Given the description of an element on the screen output the (x, y) to click on. 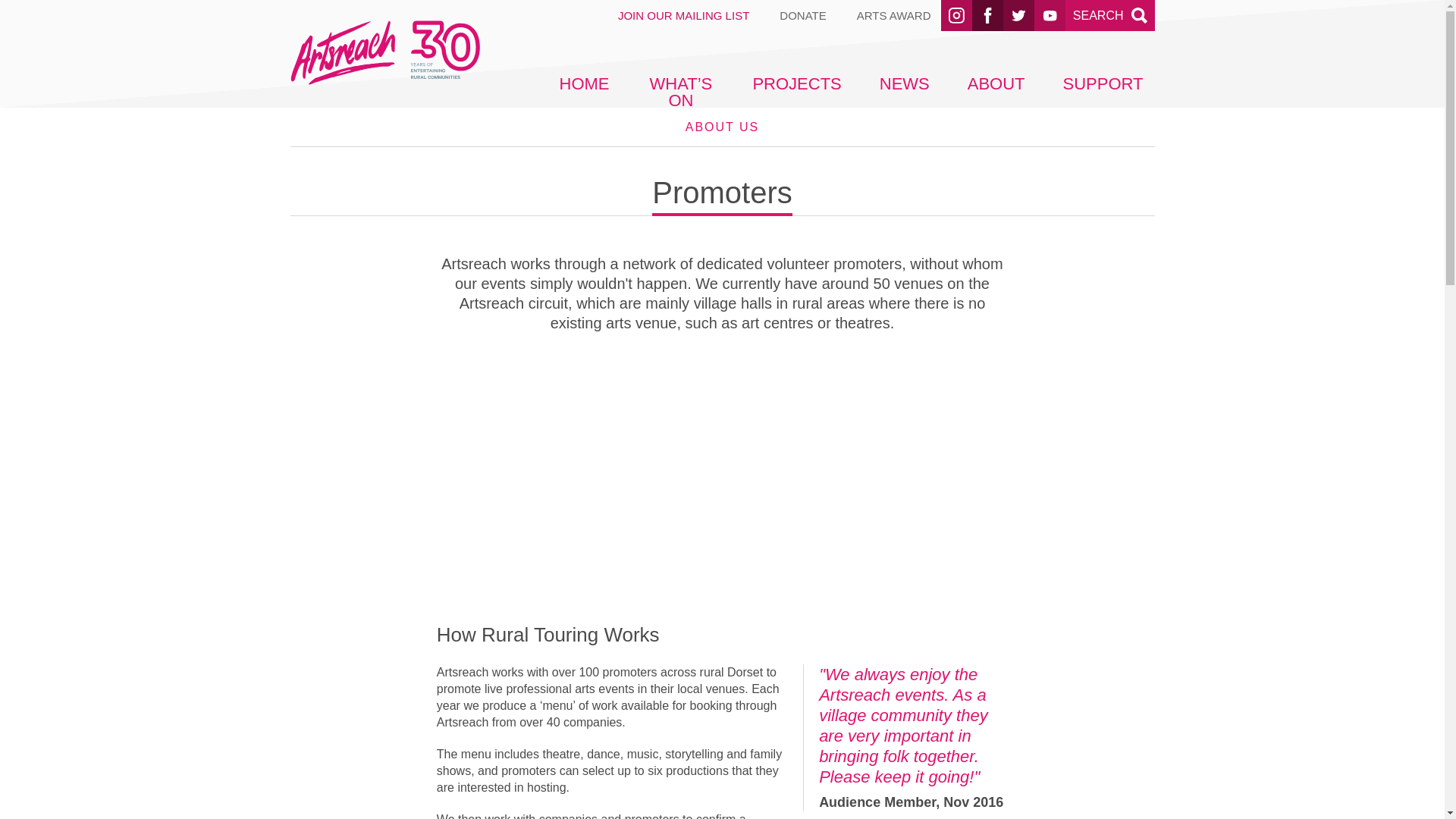
artsreach-30Created with Sketch. (384, 61)
facebook (987, 15)
twitter (1018, 15)
ARTS AWARD (894, 15)
artsreach-30Created with Sketch. (384, 52)
HOME (583, 83)
ABOUT (996, 83)
search (1139, 15)
facebook (987, 15)
SUPPORT (1102, 83)
JOIN OUR MAILING LIST (683, 15)
twitter (1109, 15)
PROJECTS (1018, 15)
